Given the description of an element on the screen output the (x, y) to click on. 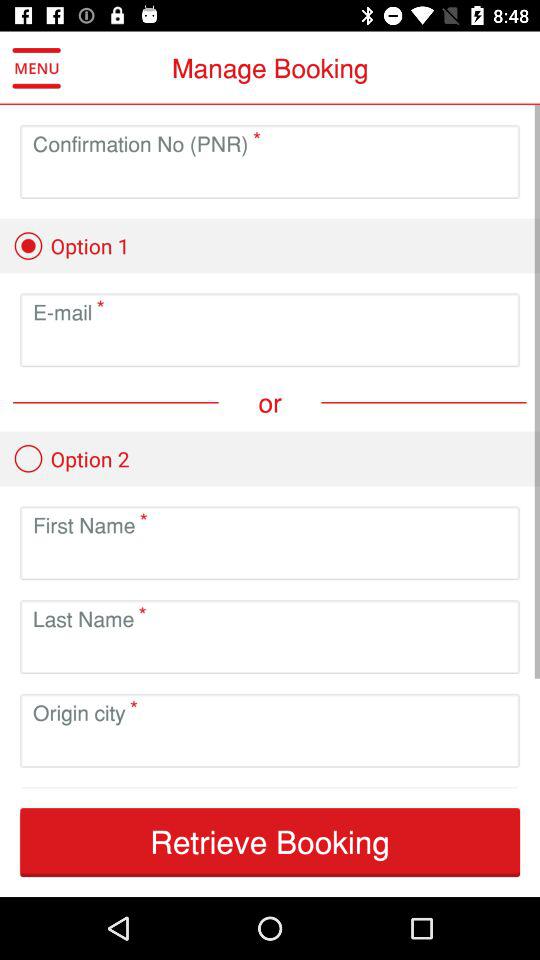
to create email option (270, 345)
